Given the description of an element on the screen output the (x, y) to click on. 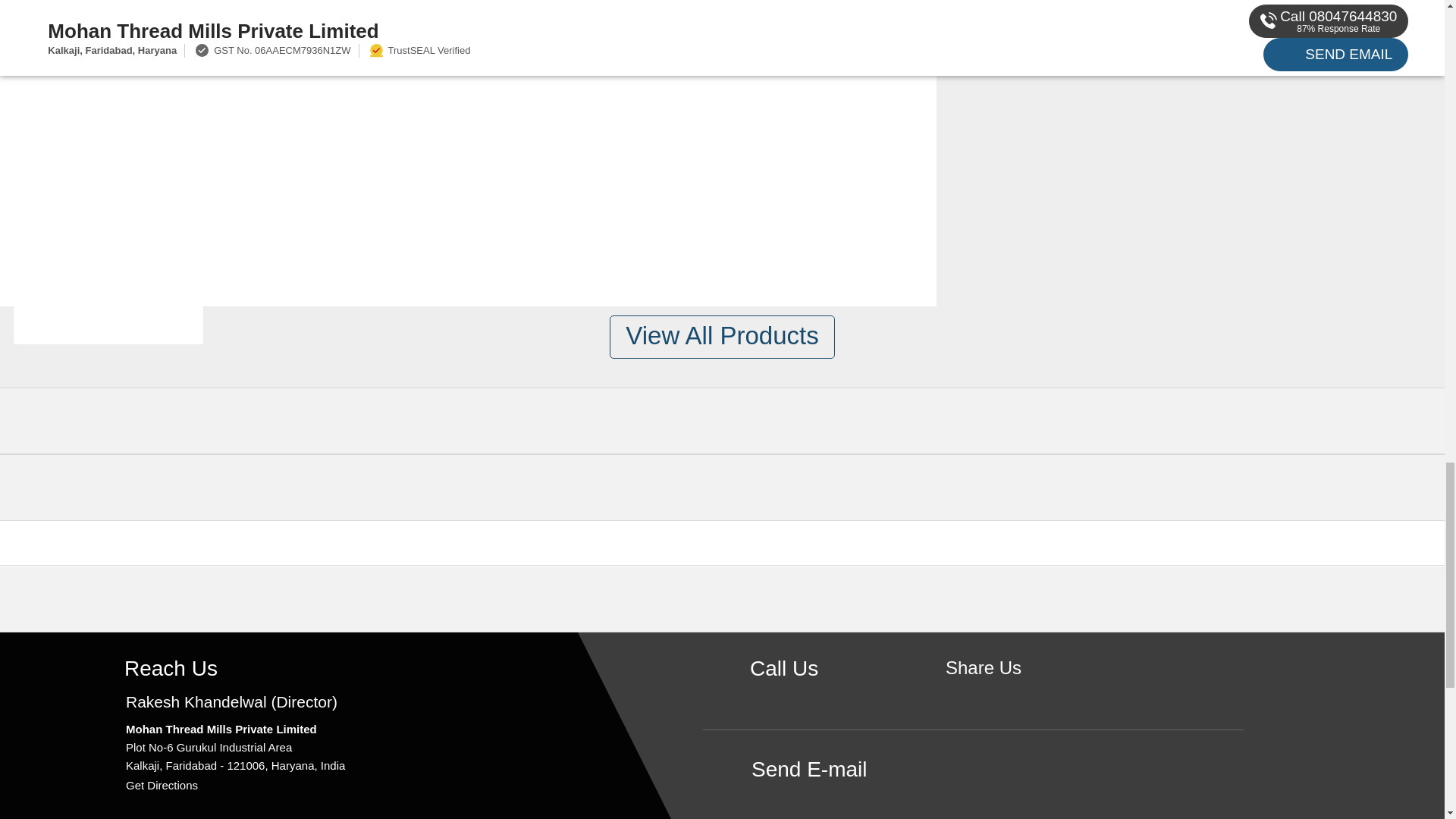
Pearl Cotton Thread (108, 106)
